Given the description of an element on the screen output the (x, y) to click on. 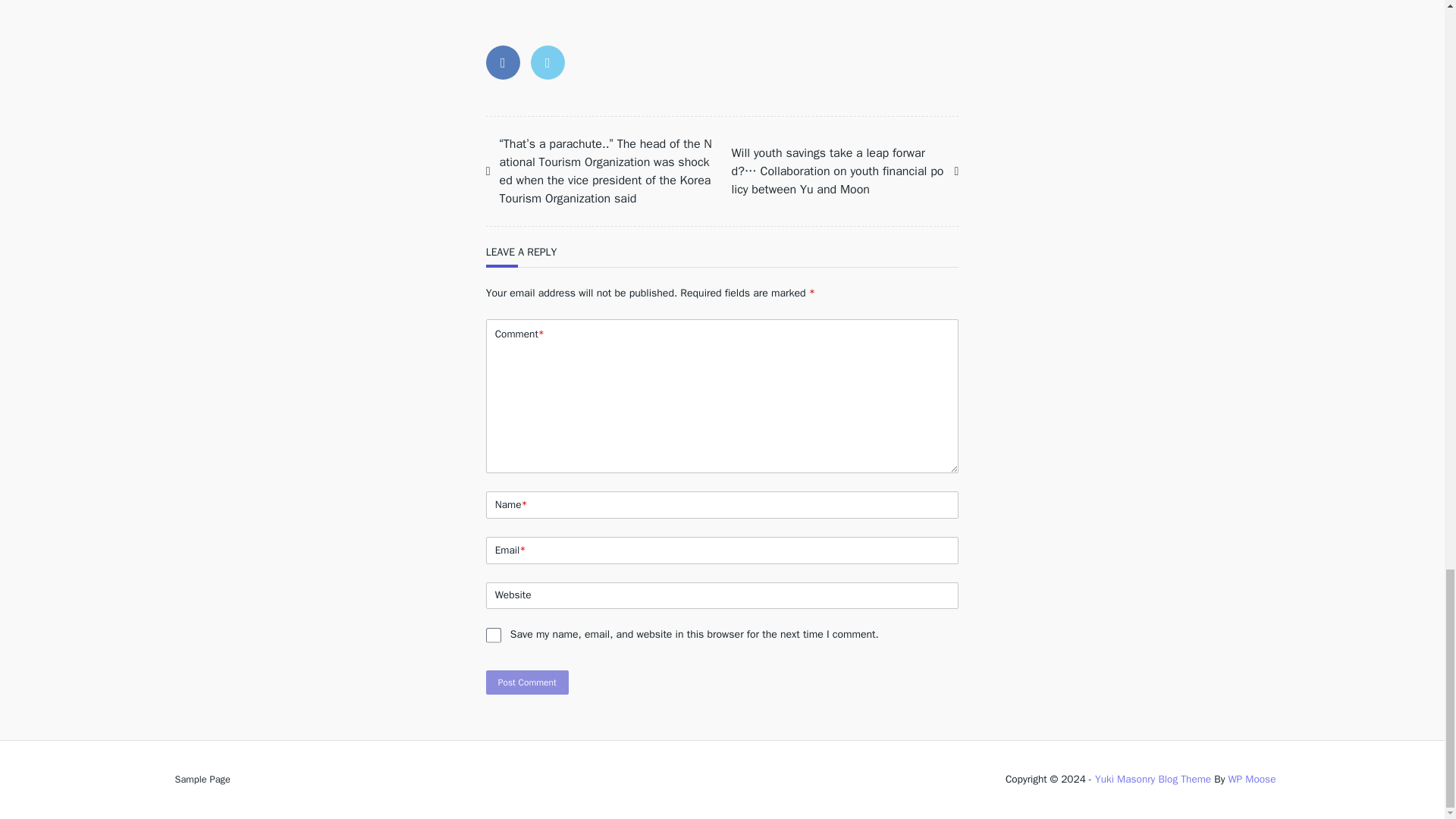
Post Comment (527, 682)
Yuki Masonry Blog Theme (1152, 779)
WP Moose (1251, 779)
Sample Page (201, 778)
Post Comment (527, 682)
yes (493, 635)
